Given the description of an element on the screen output the (x, y) to click on. 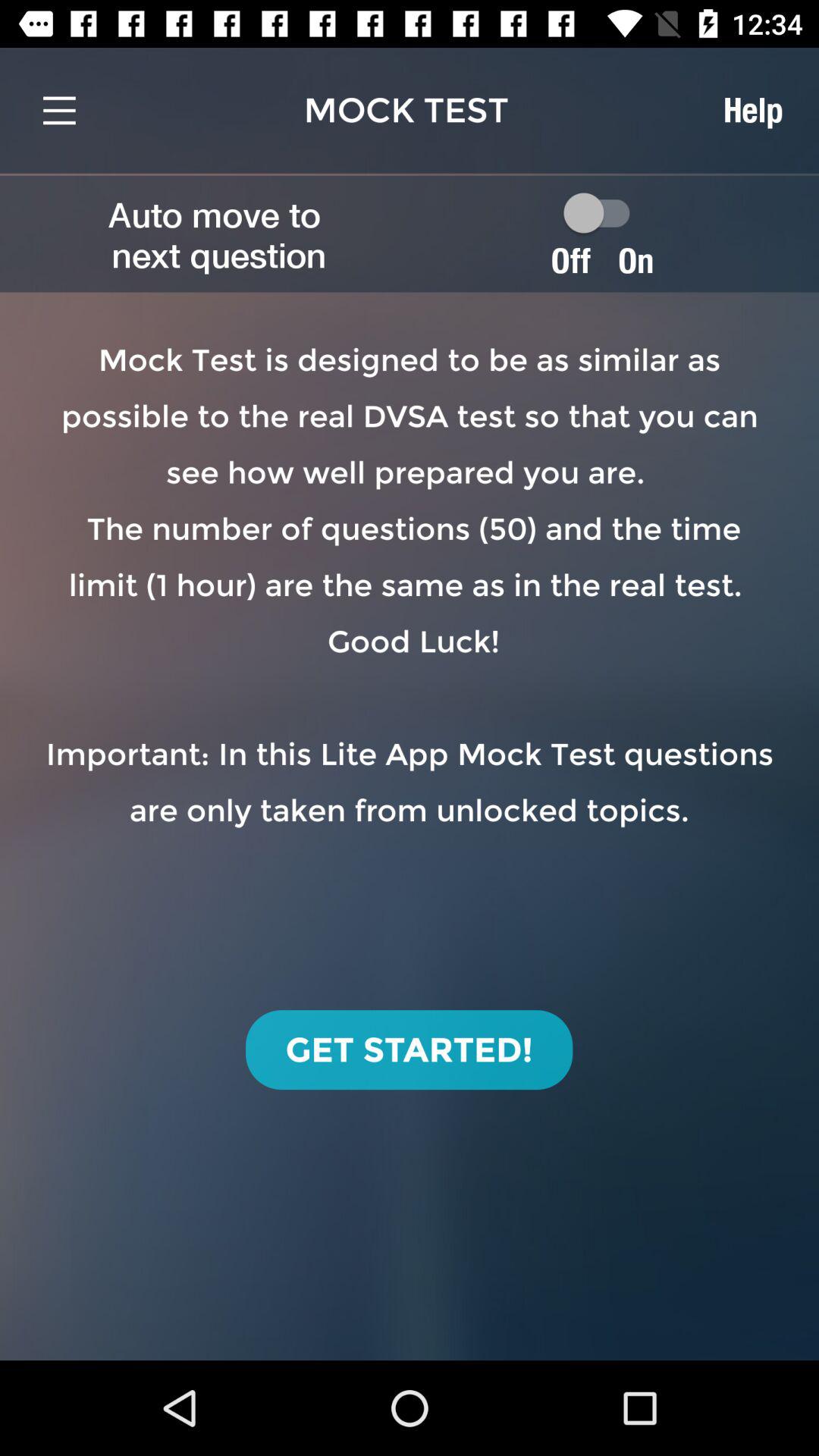
click get started! (408, 1049)
